Given the description of an element on the screen output the (x, y) to click on. 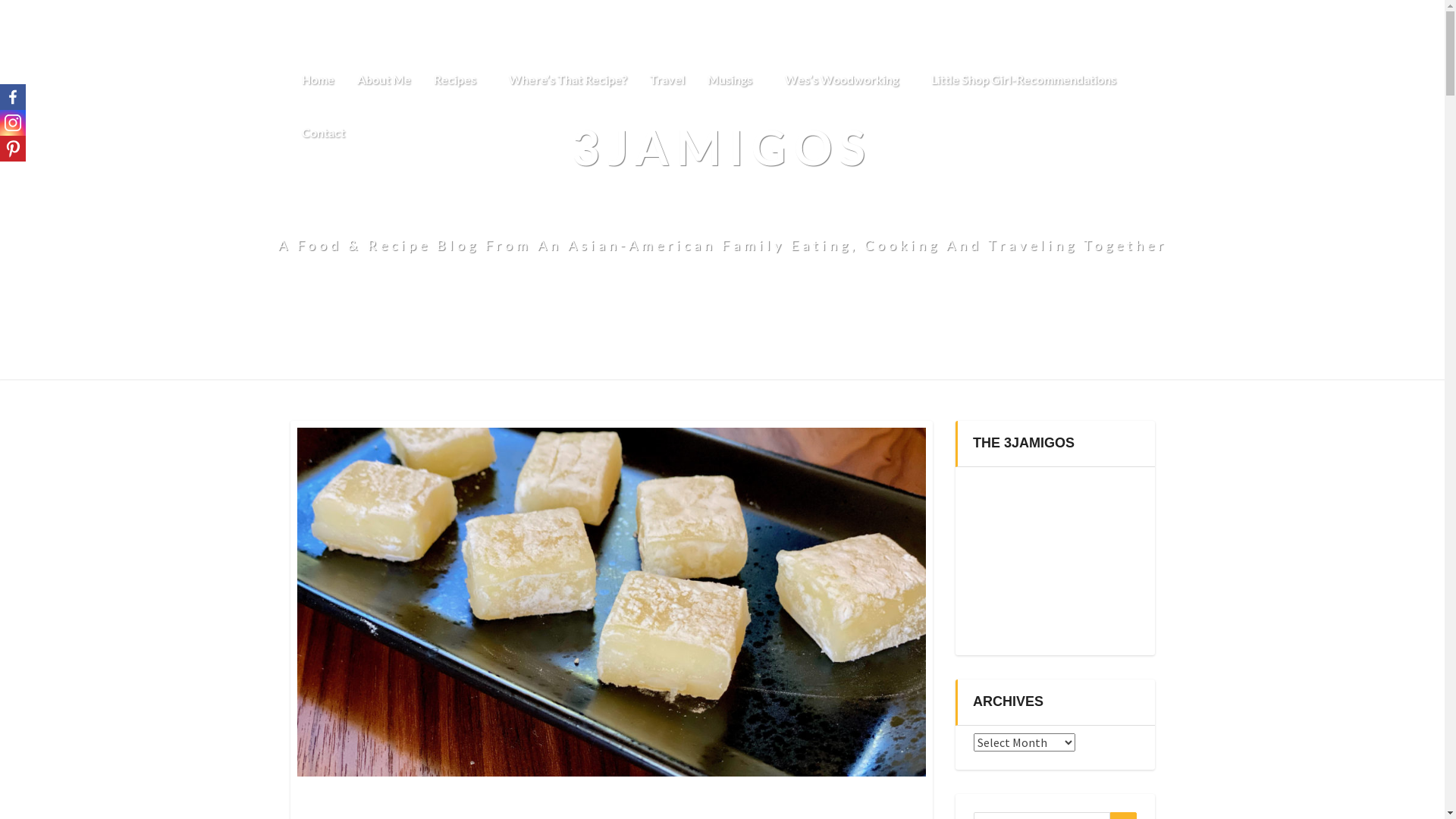
Little Shop Girl-Recommendations Element type: text (1022, 79)
Pinterest Element type: hover (12, 148)
Home Element type: text (317, 79)
Facebook Element type: hover (12, 96)
Recipes Element type: text (458, 79)
Instagram Element type: hover (12, 122)
Musings Element type: text (734, 79)
Contact Element type: text (322, 132)
About Me Element type: text (383, 79)
Travel Element type: text (667, 79)
